Given the description of an element on the screen output the (x, y) to click on. 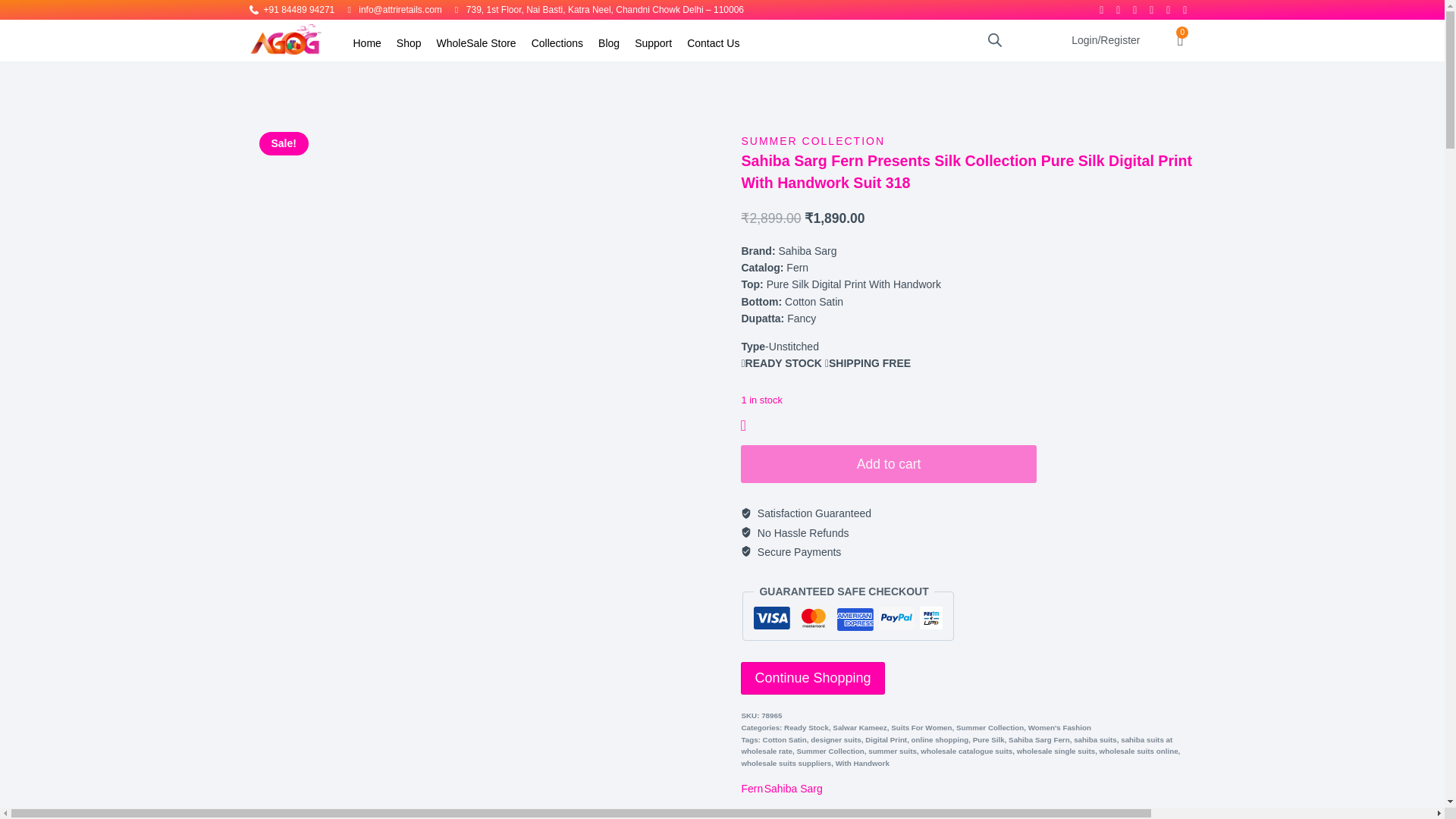
View brand (751, 788)
View brand (793, 788)
WholeSale Store (476, 42)
Collections (557, 42)
Home (367, 42)
Shop (408, 42)
